Given the description of an element on the screen output the (x, y) to click on. 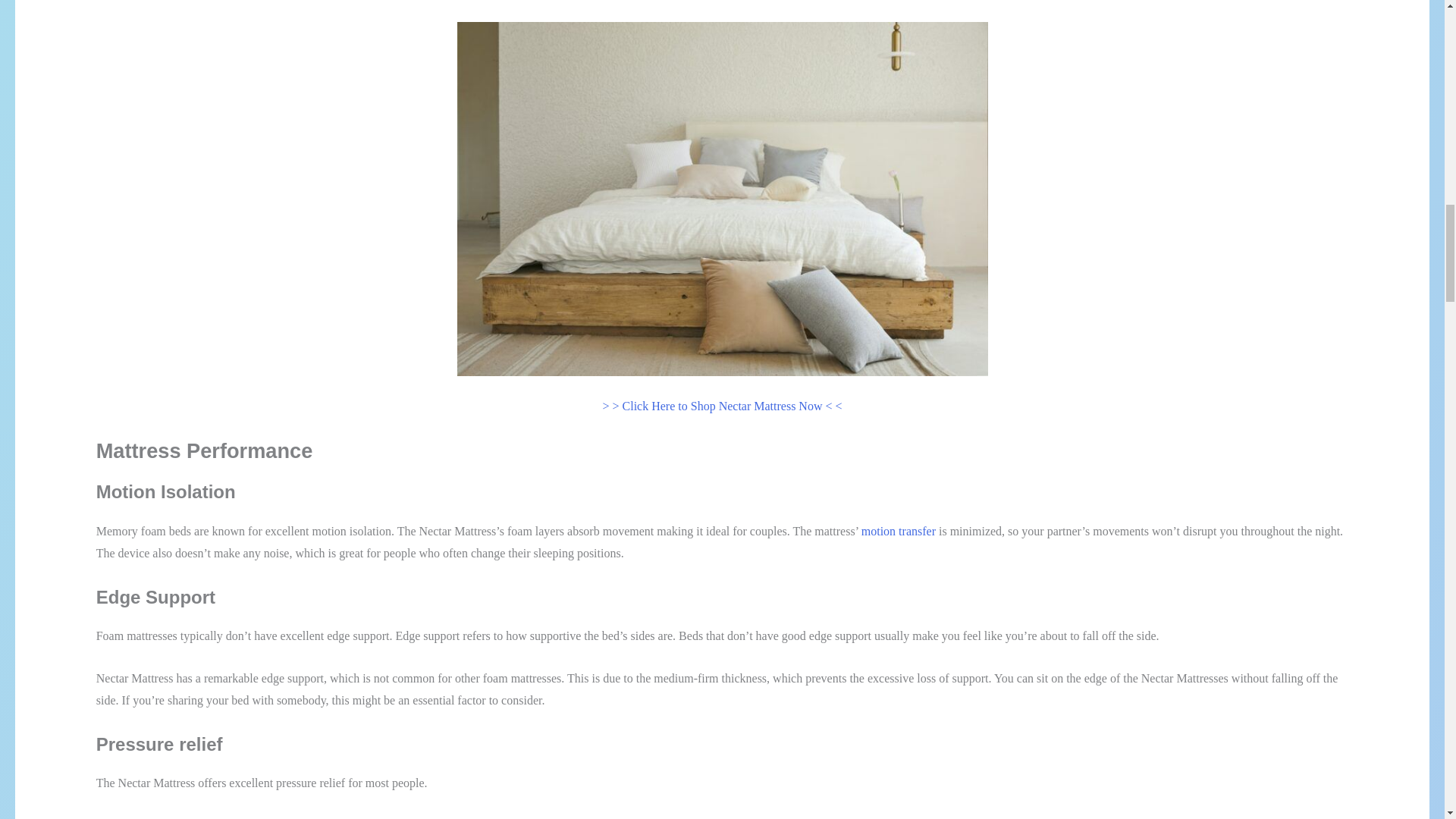
motion transfer (898, 530)
